Given the description of an element on the screen output the (x, y) to click on. 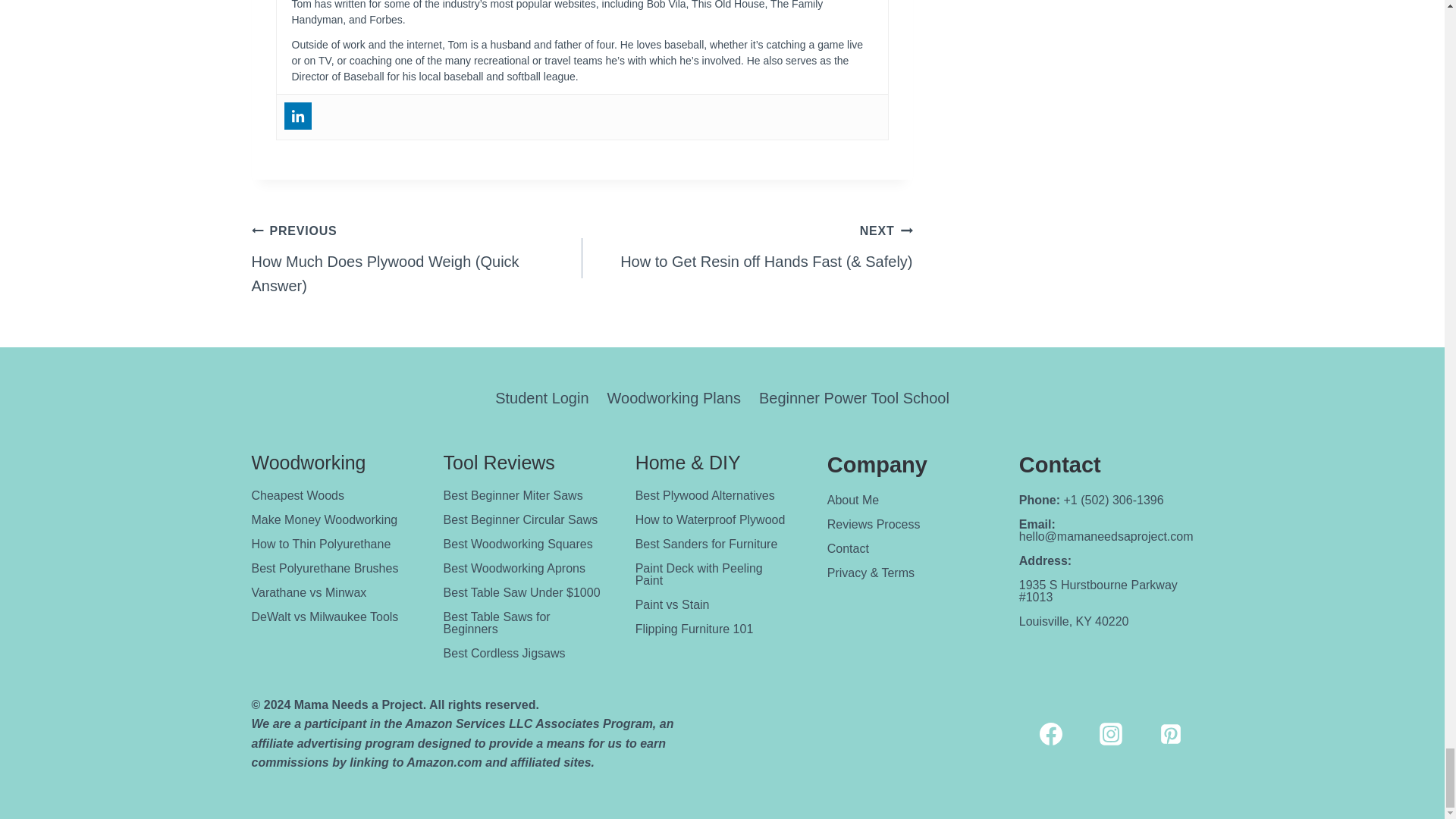
Linkedin (297, 115)
